Given the description of an element on the screen output the (x, y) to click on. 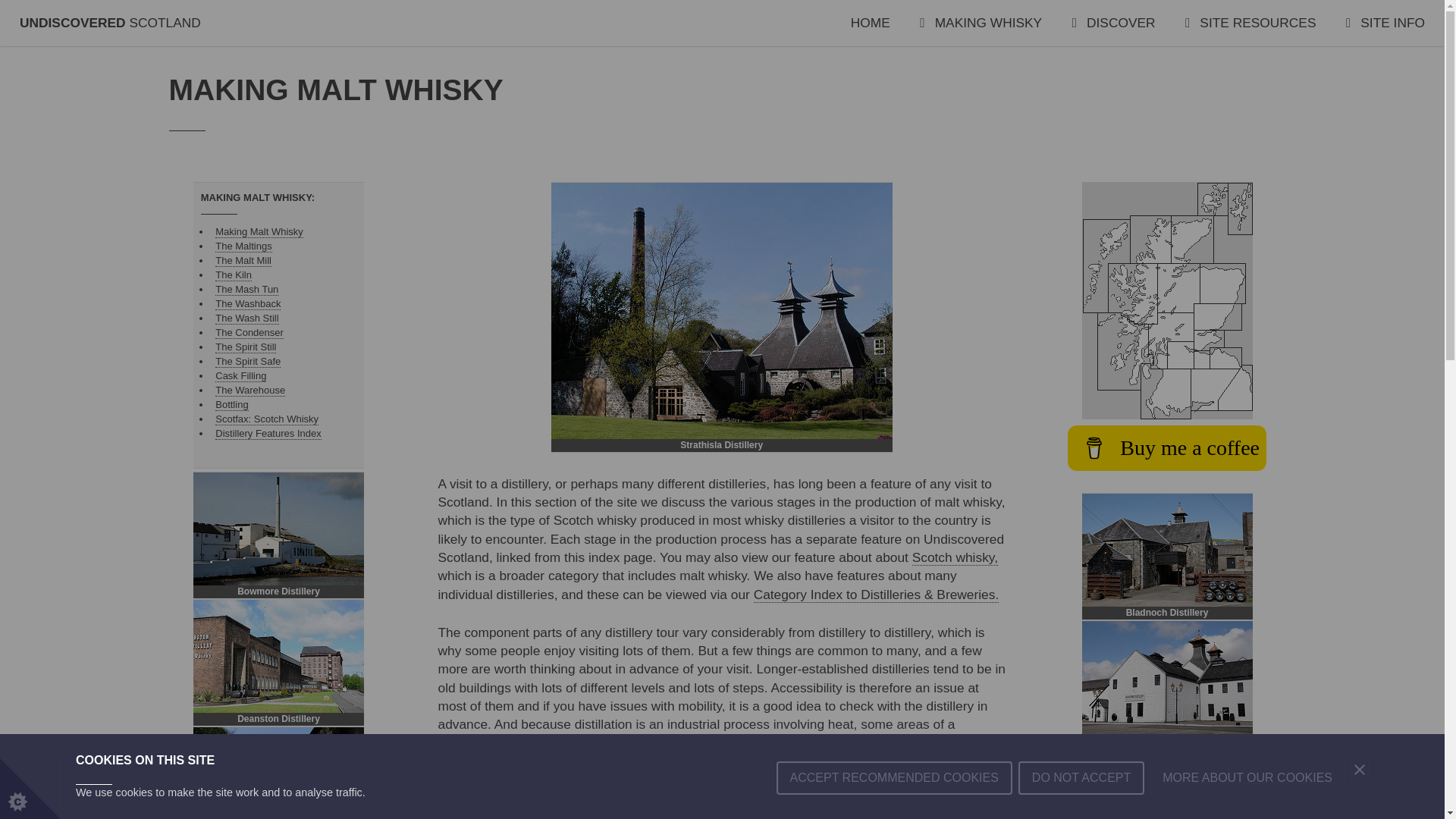
DO NOT ACCEPT (1080, 811)
MAKING WHISKY (981, 22)
DISCOVER (1113, 22)
UNDISCOVERED SCOTLAND (110, 22)
MORE ABOUT OUR COOKIES (1246, 805)
SITE RESOURCES (1250, 22)
HOME (869, 22)
